Given the description of an element on the screen output the (x, y) to click on. 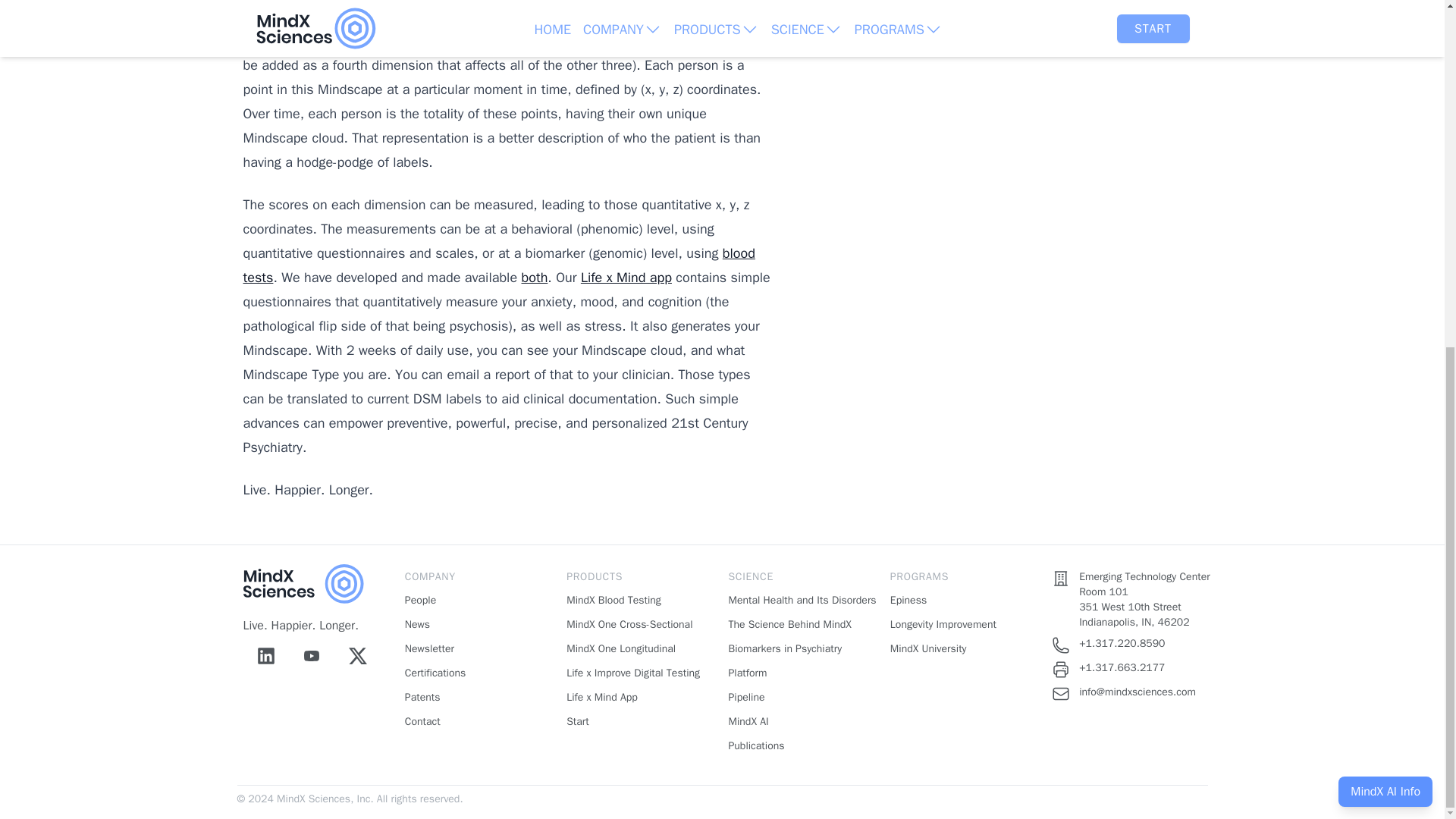
Platform (747, 672)
Mental Health and Its Disorders (802, 599)
MindX Blood Testing (613, 599)
MindX One Cross-Sectional (629, 624)
News (416, 624)
MindX AI (748, 721)
Publications (756, 745)
Patents (422, 697)
MindX AI Info (1385, 193)
Life x Improve Digital Testing (633, 672)
MindX University (927, 648)
both (534, 277)
MindX One Longitudinal (620, 648)
Pipeline (746, 697)
LinkedIn (266, 656)
